Given the description of an element on the screen output the (x, y) to click on. 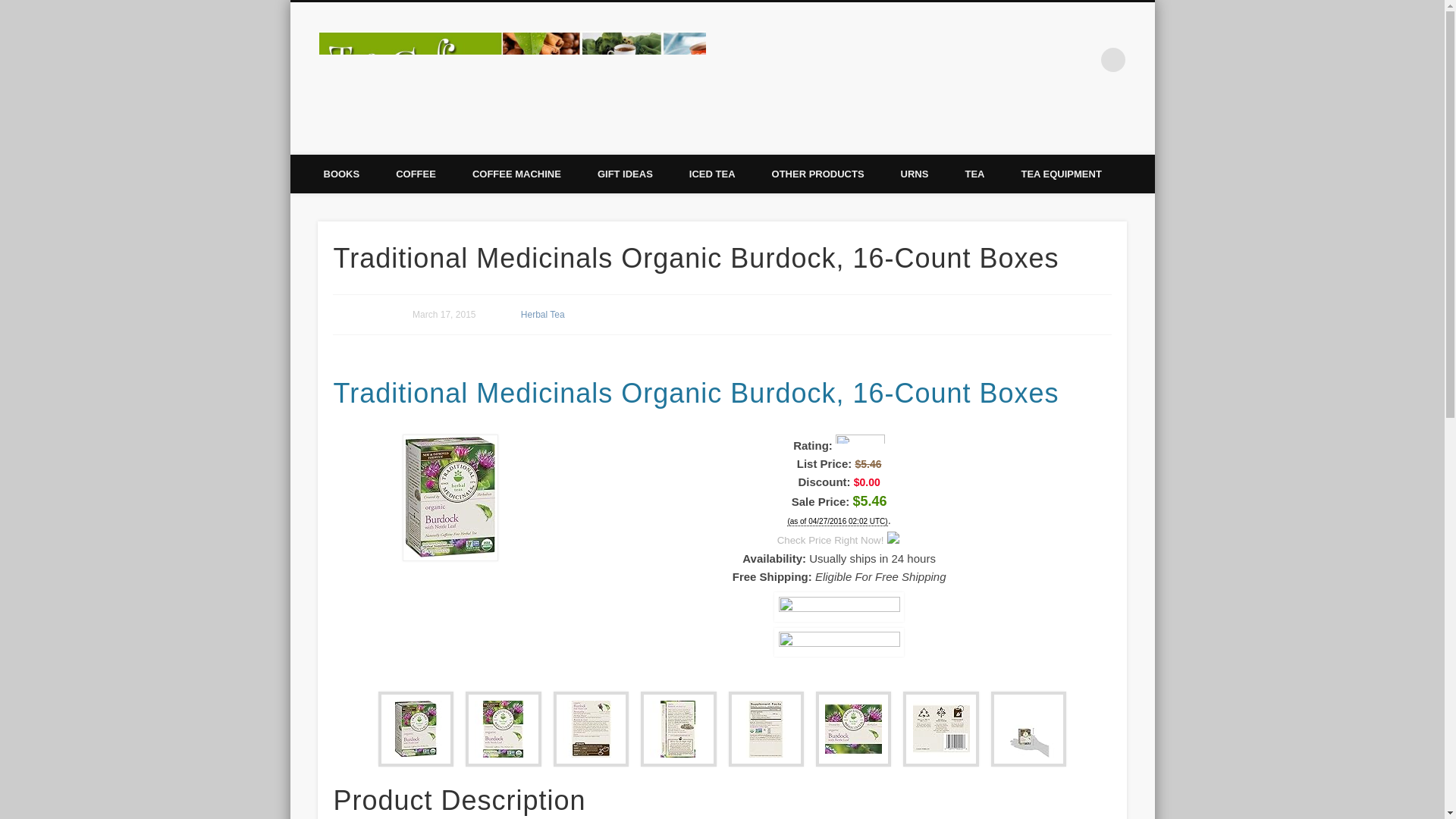
TEA (974, 173)
COFFEE (415, 173)
Traditional Medicinals Organic Burdock, 16-Count Boxes (839, 642)
COFFEE MACHINE (516, 173)
OTHER PRODUCTS (818, 173)
Traditional Medicinals Organic Burdock, 16-Count Boxes (839, 606)
BOOKS (340, 173)
URNS (914, 173)
GIFT IDEAS (625, 173)
Tea Coffee Store (802, 59)
